Given the description of an element on the screen output the (x, y) to click on. 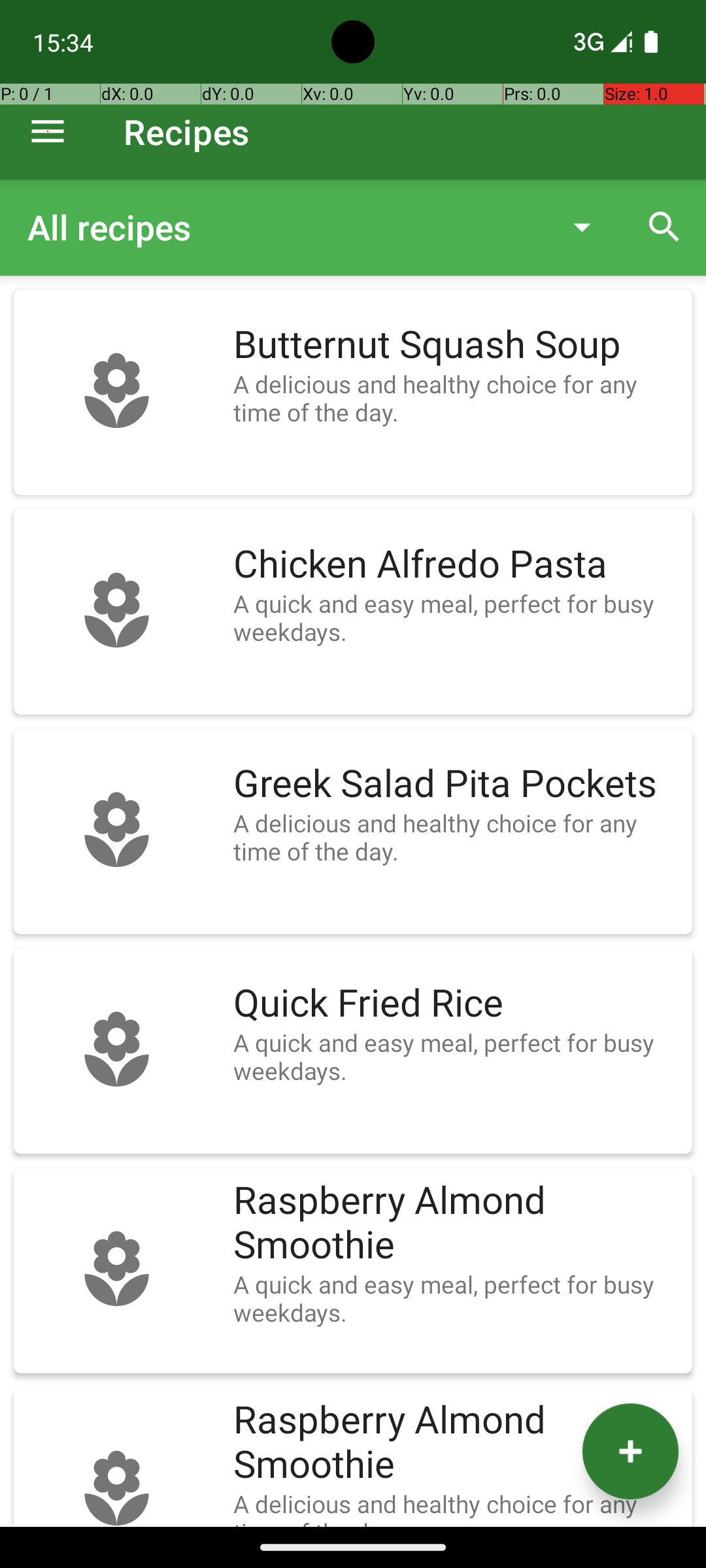
Greek Salad Pita Pockets Element type: android.widget.TextView (455, 783)
Quick Fried Rice Element type: android.widget.TextView (455, 1003)
Raspberry Almond Smoothie Element type: android.widget.TextView (455, 1222)
